Given the description of an element on the screen output the (x, y) to click on. 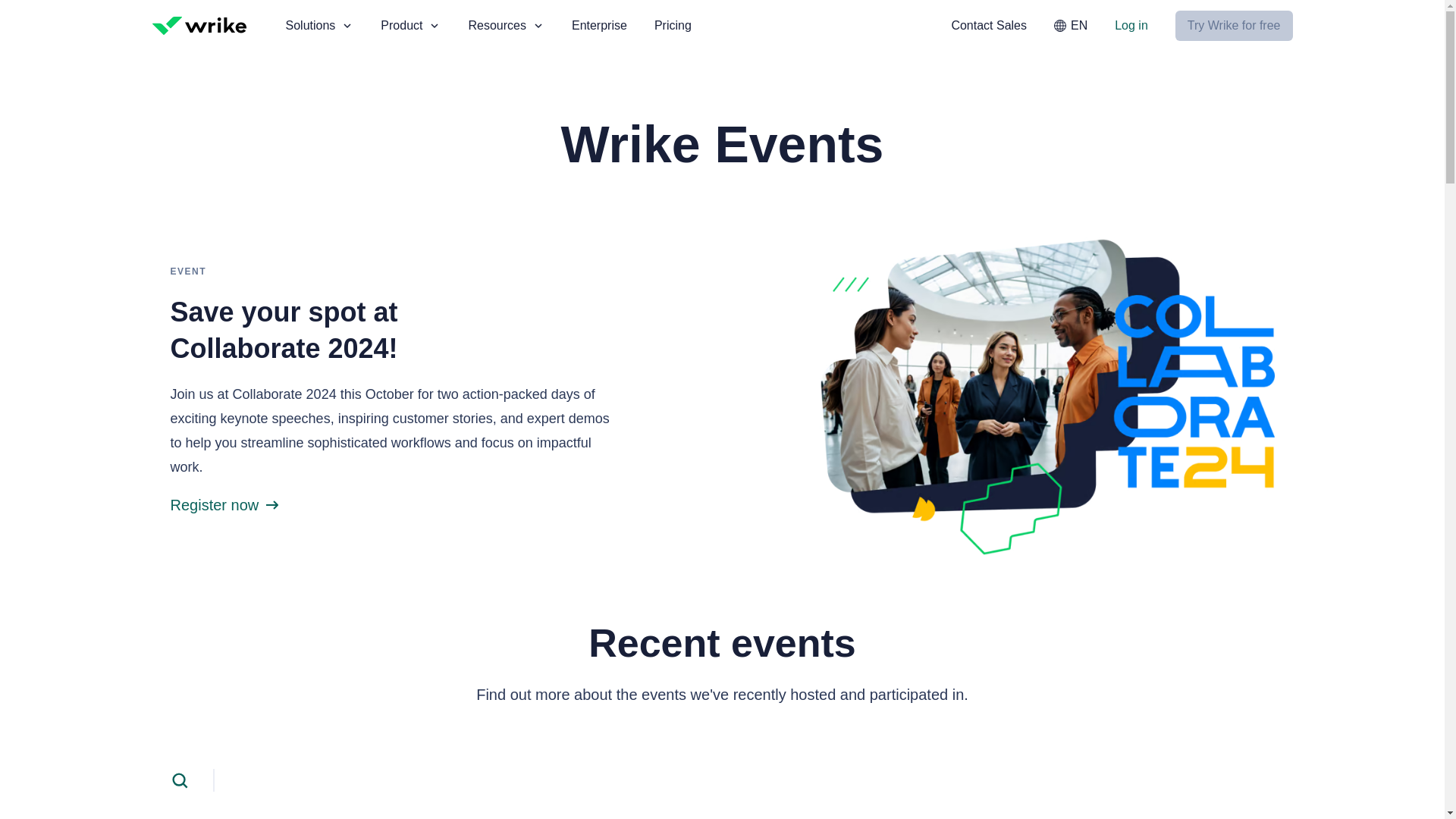
Product (410, 25)
Solutions (319, 25)
Wrike (198, 25)
